Given the description of an element on the screen output the (x, y) to click on. 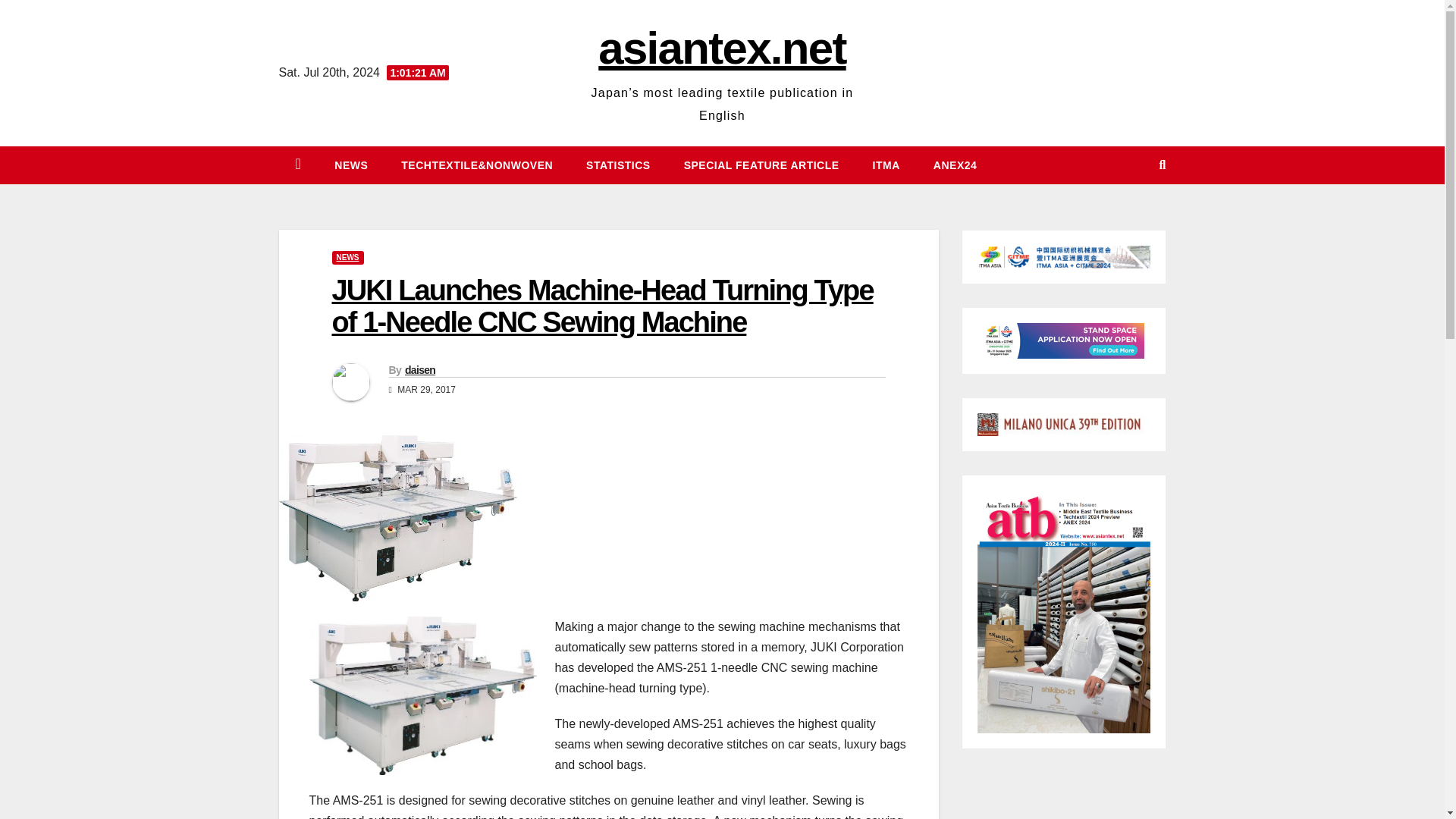
STATISTICS (617, 165)
SPECIAL FEATURE ARTICLE (761, 165)
ANEX24 (954, 165)
daisen (419, 369)
ANEX24 (954, 165)
NEWS (347, 257)
Statistics (617, 165)
NEWS (350, 165)
News (350, 165)
Special Feature Article (761, 165)
ITMA (886, 165)
ITMA (886, 165)
asiantex.net (721, 47)
